Given the description of an element on the screen output the (x, y) to click on. 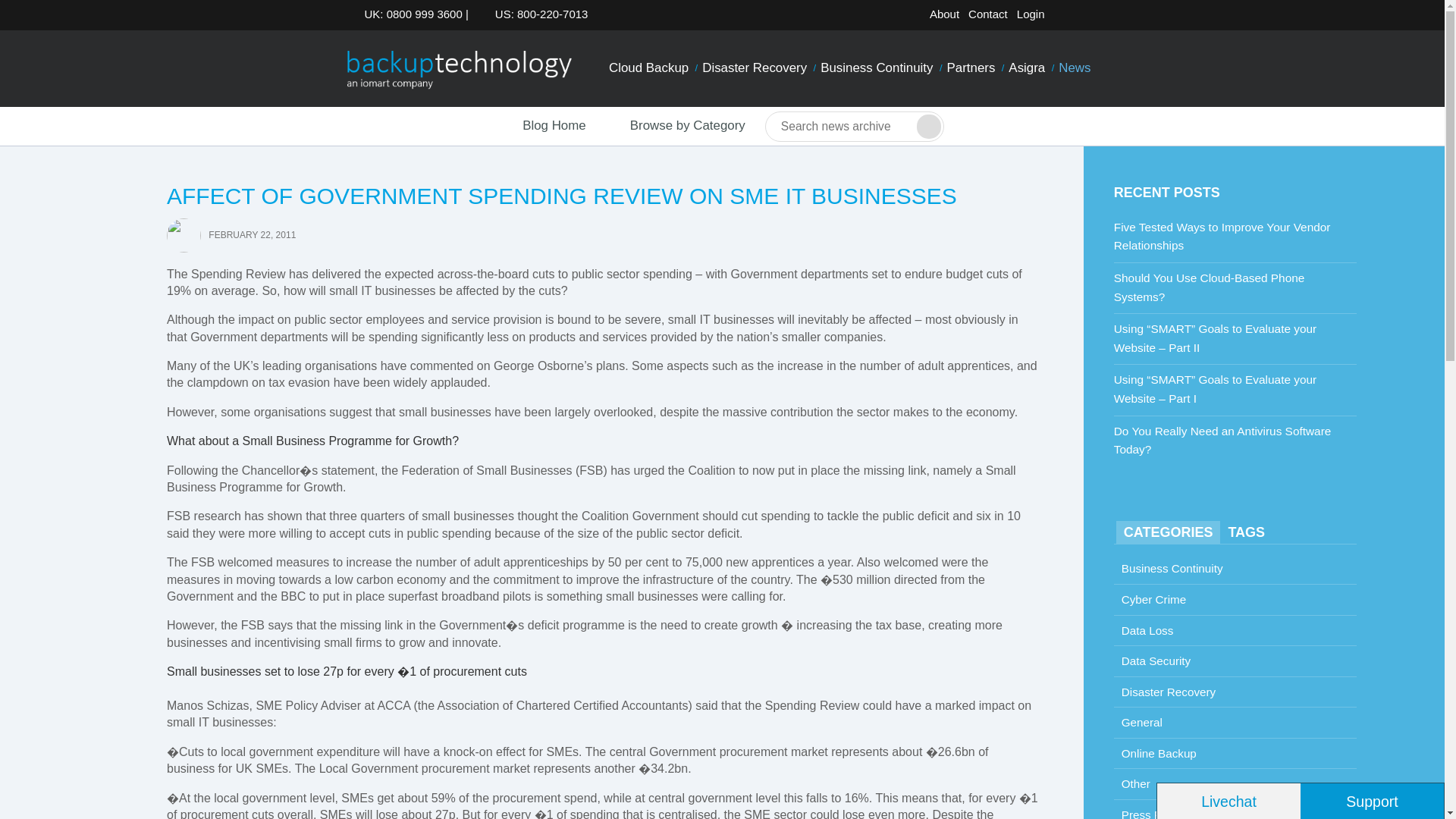
Login (1030, 14)
Search (928, 126)
Cloud Backup (648, 68)
Asigra (1026, 68)
Search (928, 126)
US: 800-220-7013 (536, 14)
Blog Home (539, 126)
Disaster Recovery (754, 68)
Business Continuity (876, 68)
News (1074, 68)
